Given the description of an element on the screen output the (x, y) to click on. 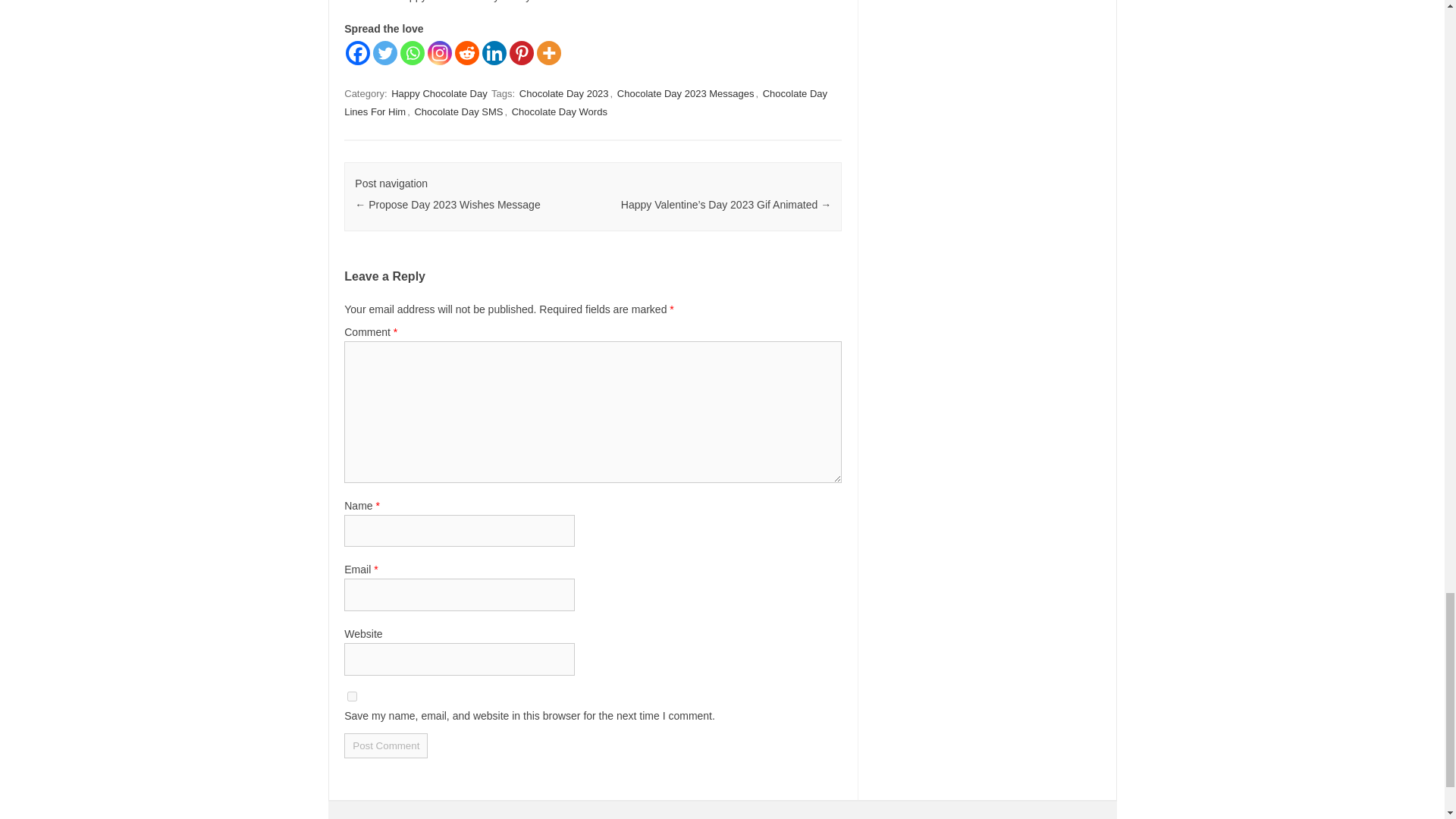
Linkedin (493, 52)
Post Comment (385, 745)
Chocolate Day 2023 (564, 93)
Chocolate Day Lines For Him (585, 102)
Whatsapp (412, 52)
yes (351, 696)
Chocolate Day Words (559, 111)
Reddit (466, 52)
Pinterest (521, 52)
Chocolate Day SMS (457, 111)
